Given the description of an element on the screen output the (x, y) to click on. 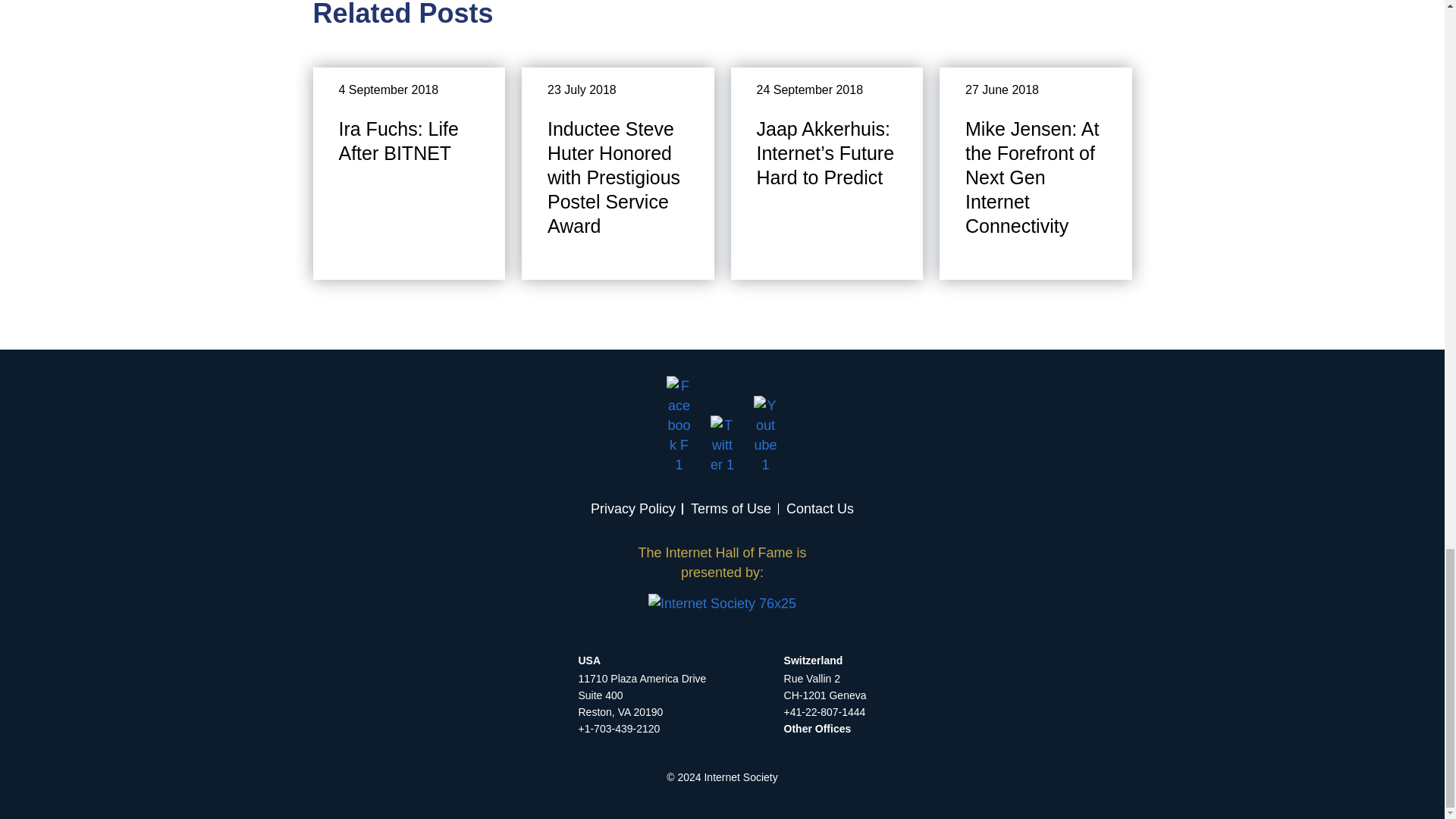
Terms of Use (730, 508)
Other Offices (817, 728)
Contact Us (819, 508)
Privacy Policy (633, 508)
